Given the description of an element on the screen output the (x, y) to click on. 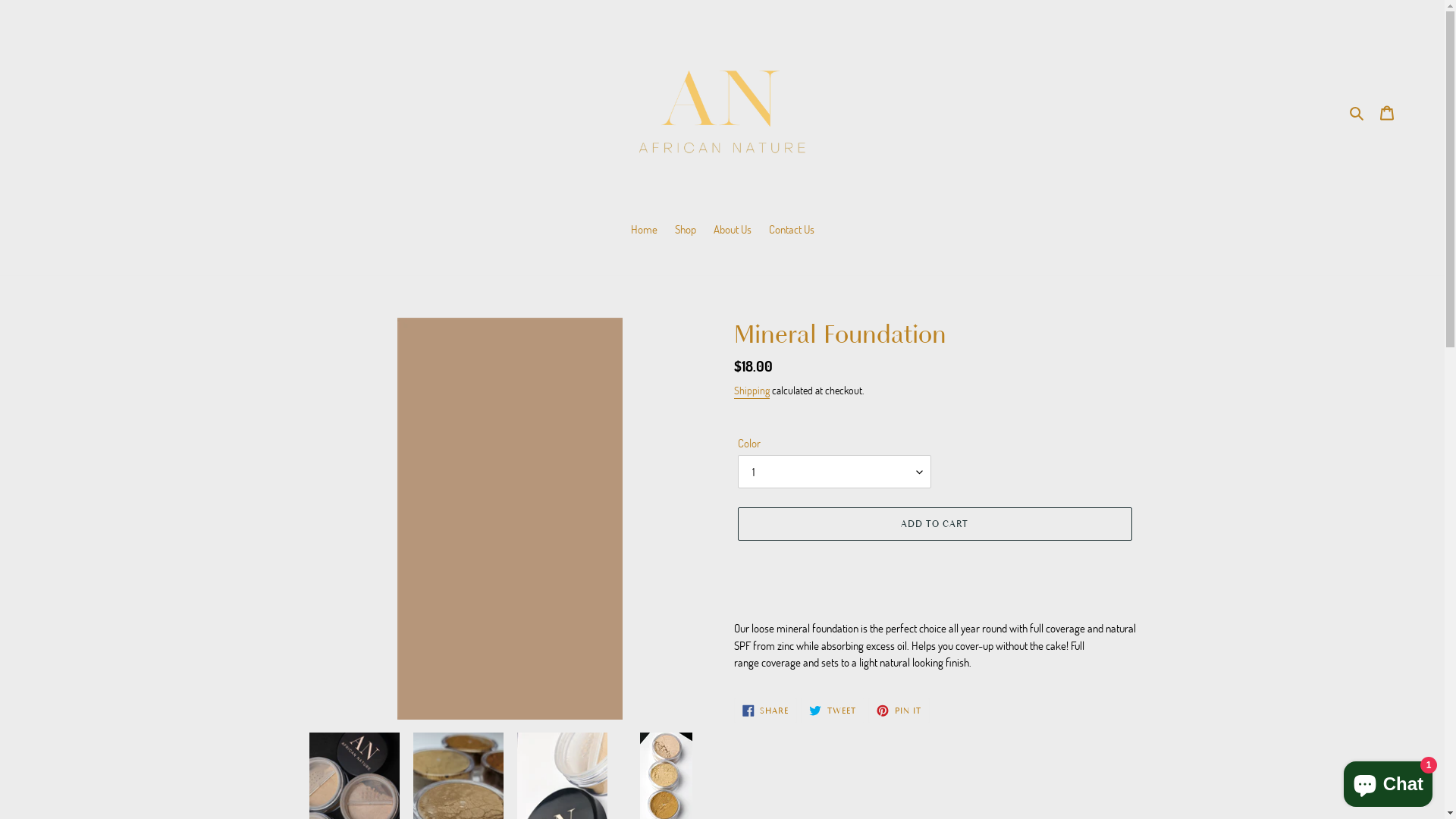
Search Element type: text (1357, 111)
Shop Element type: text (685, 230)
About Us Element type: text (731, 230)
PIN IT
PIN ON PINTEREST Element type: text (898, 710)
Shipping Element type: text (751, 390)
SHARE
SHARE ON FACEBOOK Element type: text (765, 710)
Shopify online store chat Element type: hover (1388, 780)
Cart Element type: text (1386, 111)
ADD TO CART Element type: text (934, 523)
Contact Us Element type: text (791, 230)
TWEET
TWEET ON TWITTER Element type: text (832, 710)
Home Element type: text (644, 230)
